Given the description of an element on the screen output the (x, y) to click on. 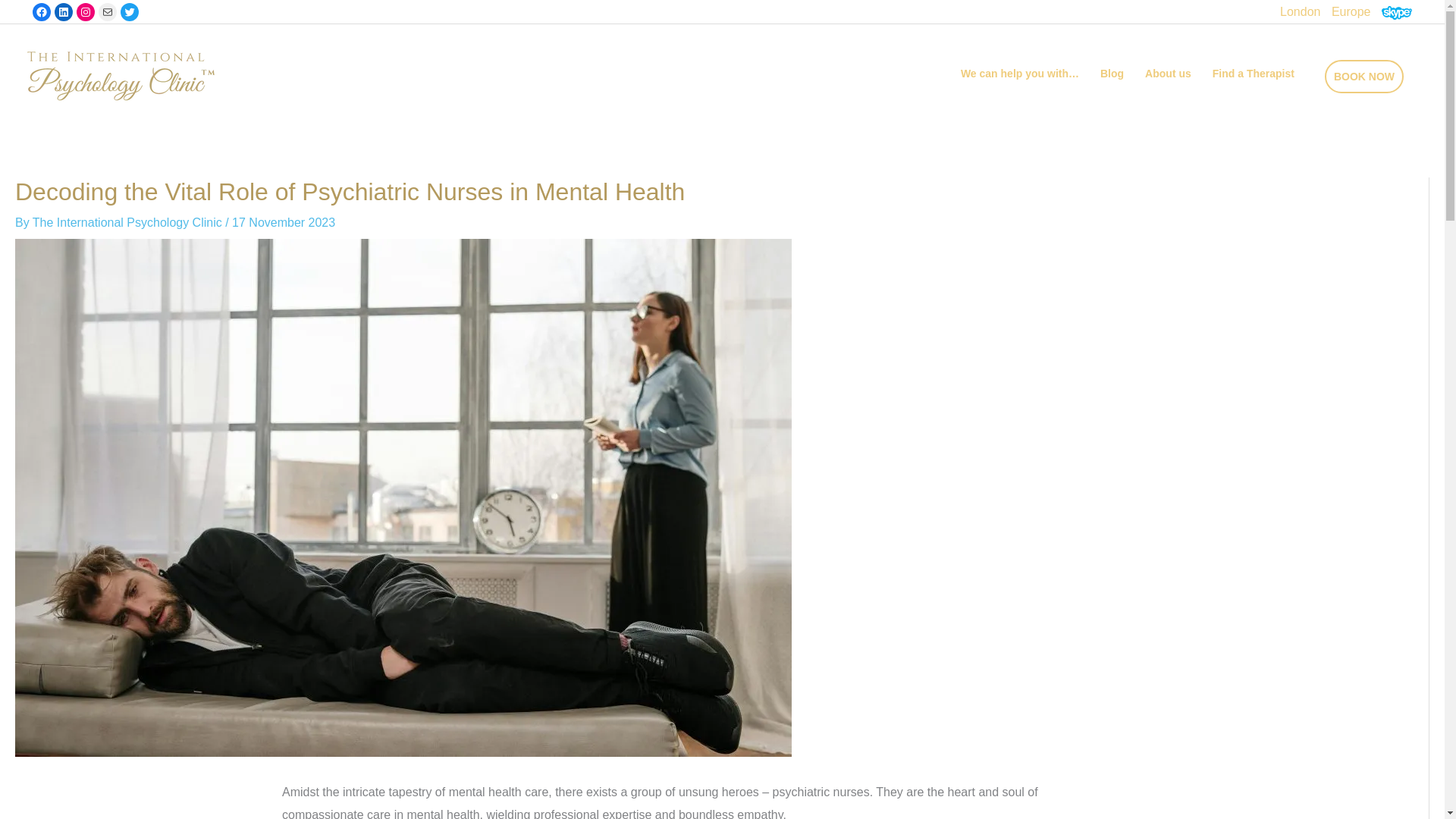
Europe (1351, 11)
Blog (1111, 73)
Instagram (85, 12)
Mail (107, 12)
Facebook (41, 12)
LinkedIn (63, 12)
Find a Therapist (1253, 73)
View all posts by The International Psychology Clinic (128, 222)
About us (1168, 73)
The International Psychology Clinic (128, 222)
BOOK NOW (1363, 76)
London (1299, 11)
Twitter (129, 12)
